Given the description of an element on the screen output the (x, y) to click on. 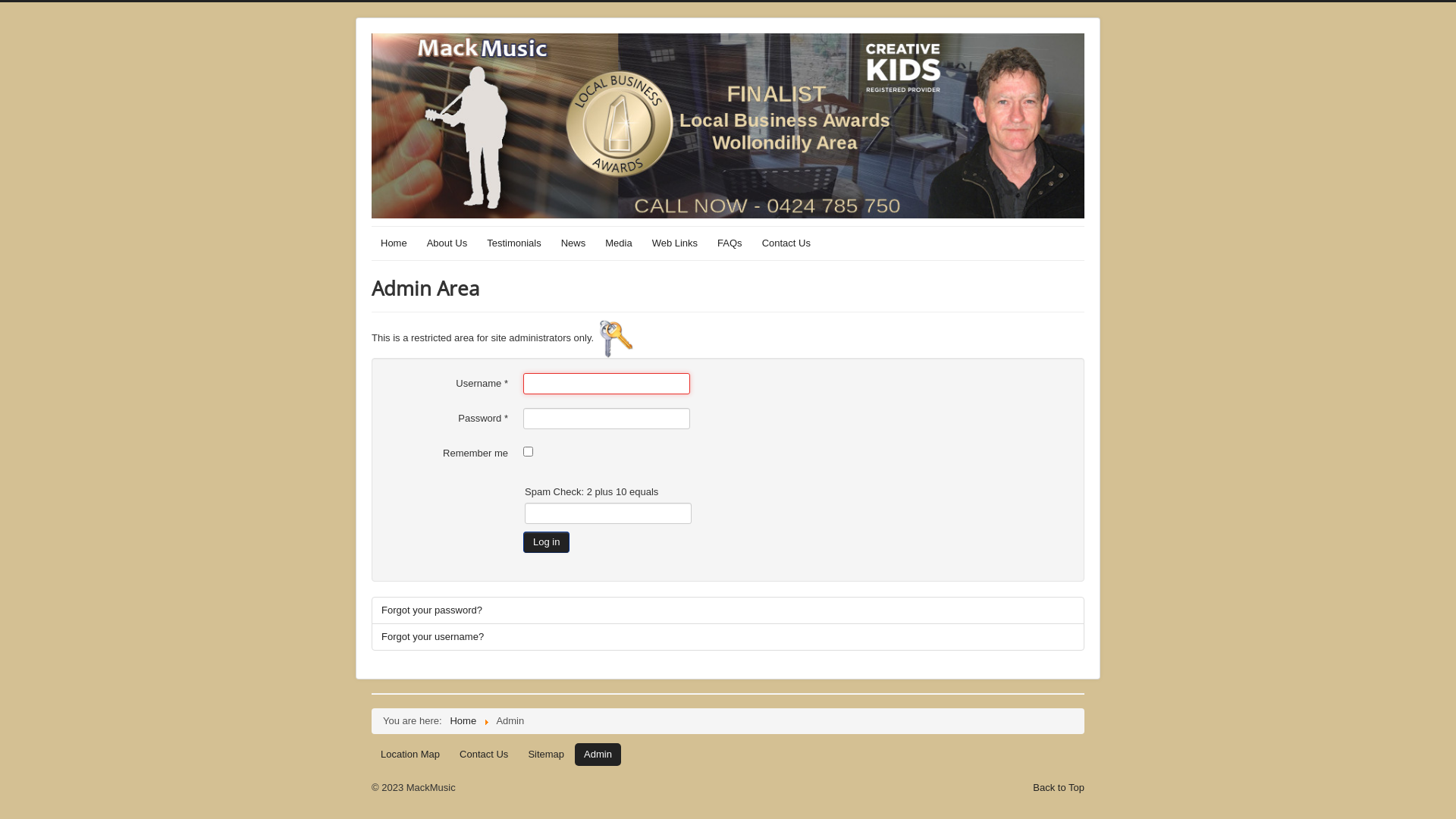
Contact Us Element type: text (786, 243)
Sitemap Element type: text (545, 754)
Testimonials Element type: text (513, 243)
Media Element type: text (618, 243)
Forgot your password? Element type: text (727, 610)
Home Element type: text (462, 720)
Back to Top Element type: text (1058, 787)
Contact Us Element type: text (483, 754)
News Element type: text (573, 243)
Web Links Element type: text (674, 243)
Forgot your username? Element type: text (727, 636)
FAQs Element type: text (729, 243)
About Us Element type: text (446, 243)
Home Element type: text (393, 243)
Log in Element type: text (546, 541)
Admin Element type: text (597, 754)
Location Map Element type: text (409, 754)
